Given the description of an element on the screen output the (x, y) to click on. 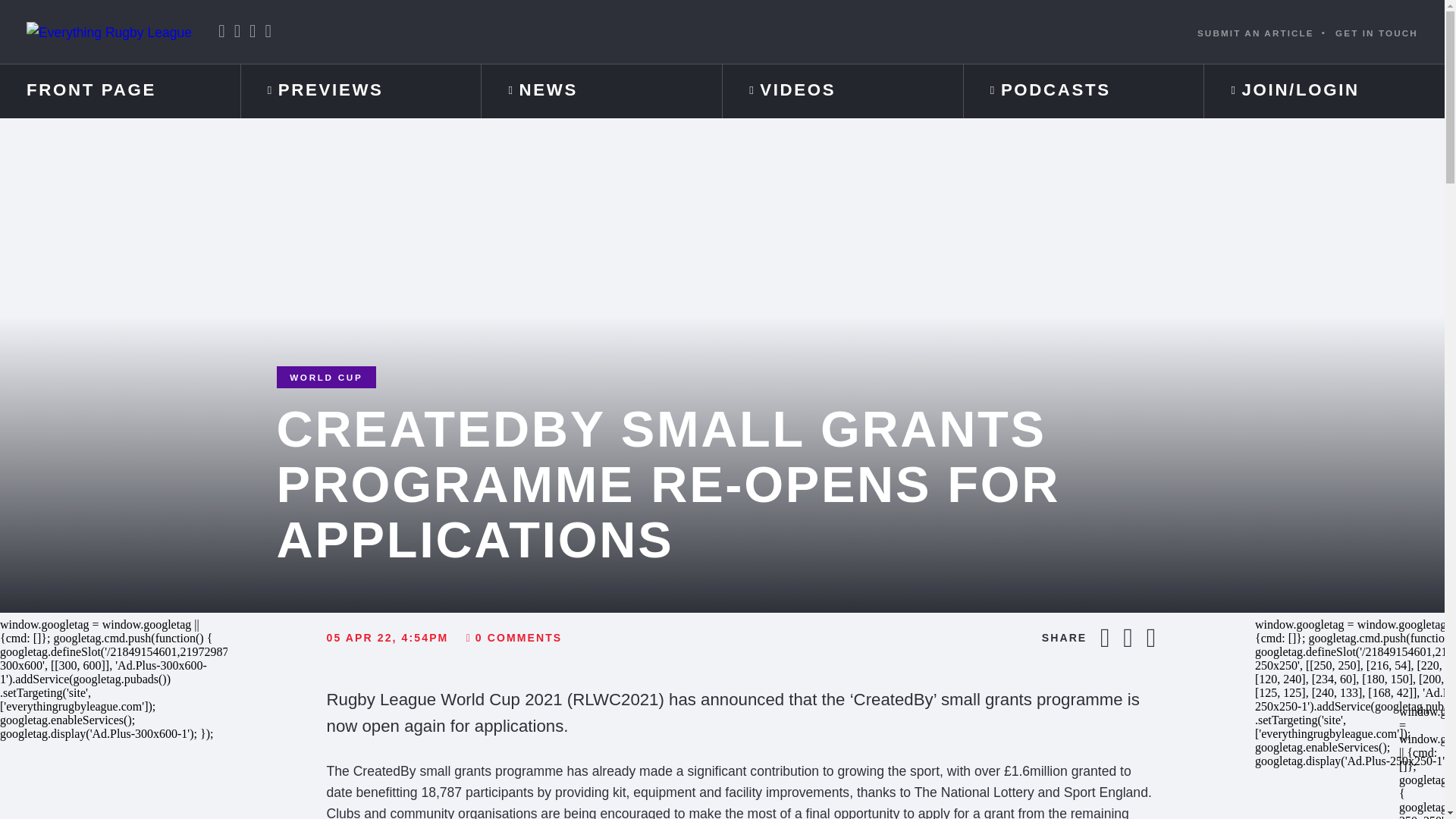
VIDEOS (842, 90)
0 COMMENTS (513, 637)
PREVIEWS (361, 90)
PODCASTS (1083, 90)
SUBMIT AN ARTICLE (1255, 32)
WORLD CUP (325, 377)
NEWS (601, 90)
GET IN TOUCH (1376, 32)
FRONT PAGE (120, 90)
